Given the description of an element on the screen output the (x, y) to click on. 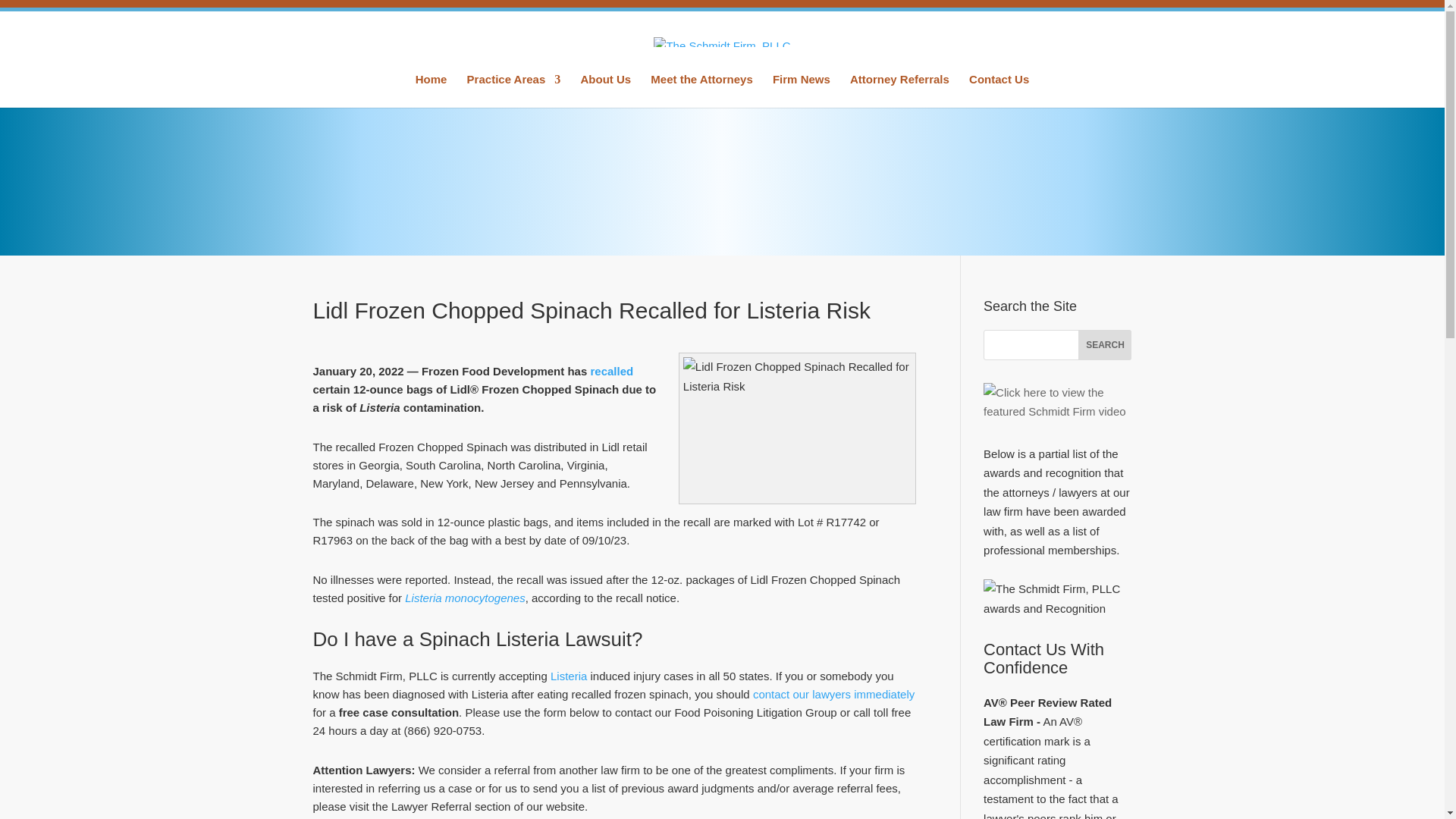
Contact Us (999, 90)
Search (1104, 345)
Search (1104, 345)
Firm News (801, 90)
contact our lawyers immediately (833, 694)
Listeria (568, 675)
About Us (604, 90)
Listeria monocytogenes (464, 597)
Meet the Attorneys (701, 90)
recalled (611, 370)
